Given the description of an element on the screen output the (x, y) to click on. 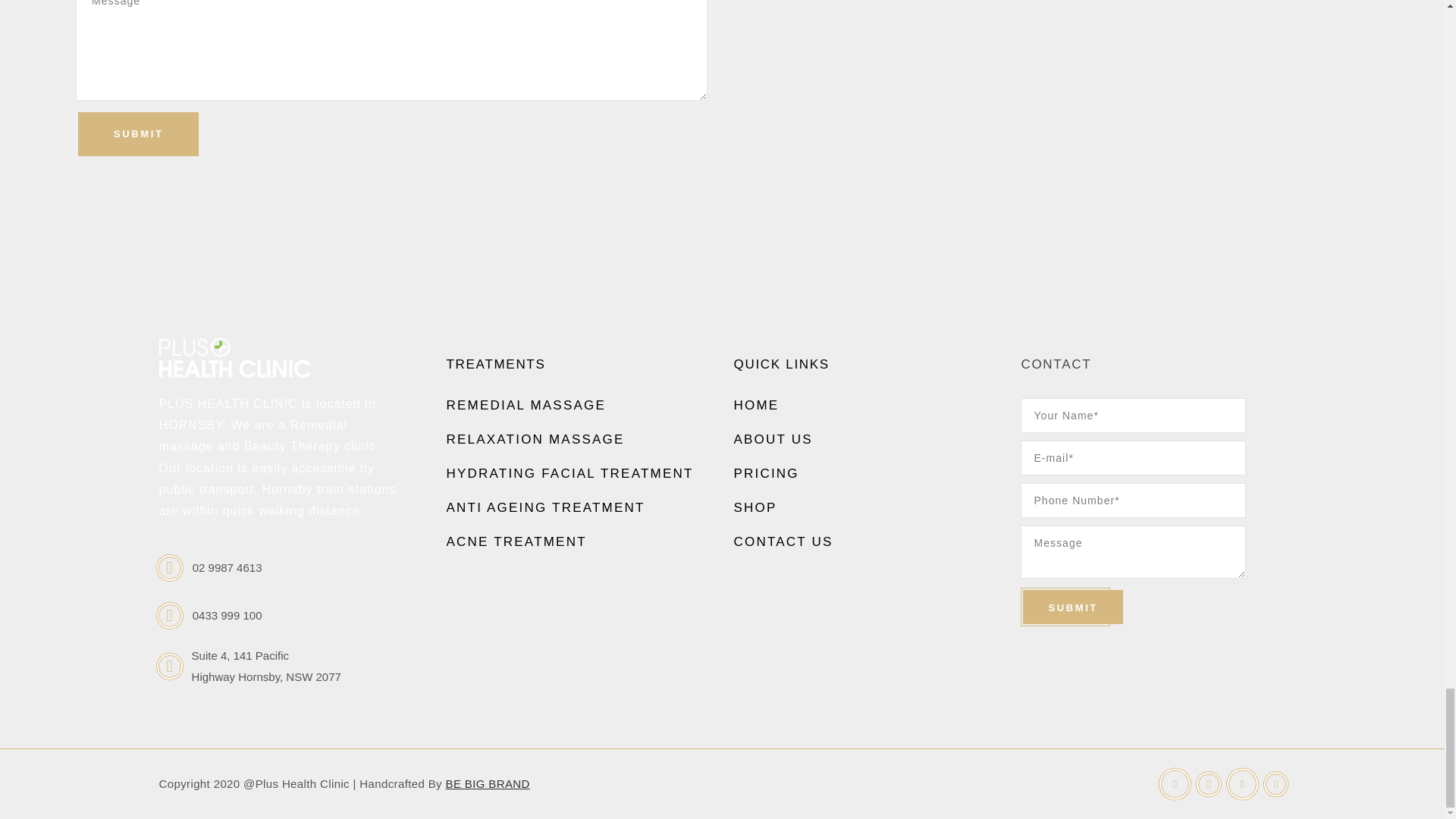
Submit (138, 134)
Submit (1072, 606)
